Given the description of an element on the screen output the (x, y) to click on. 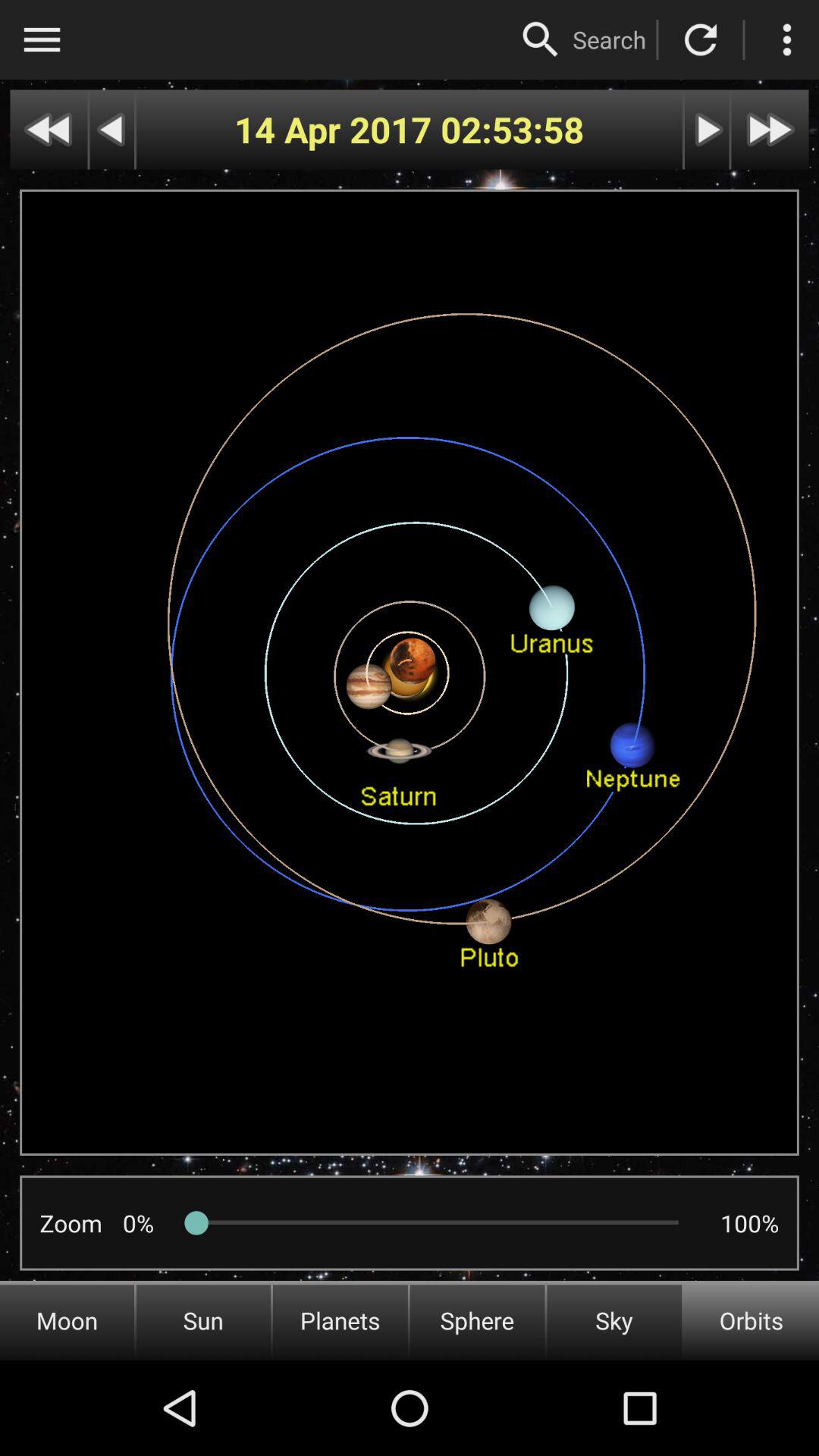
fast forward in time (769, 129)
